Given the description of an element on the screen output the (x, y) to click on. 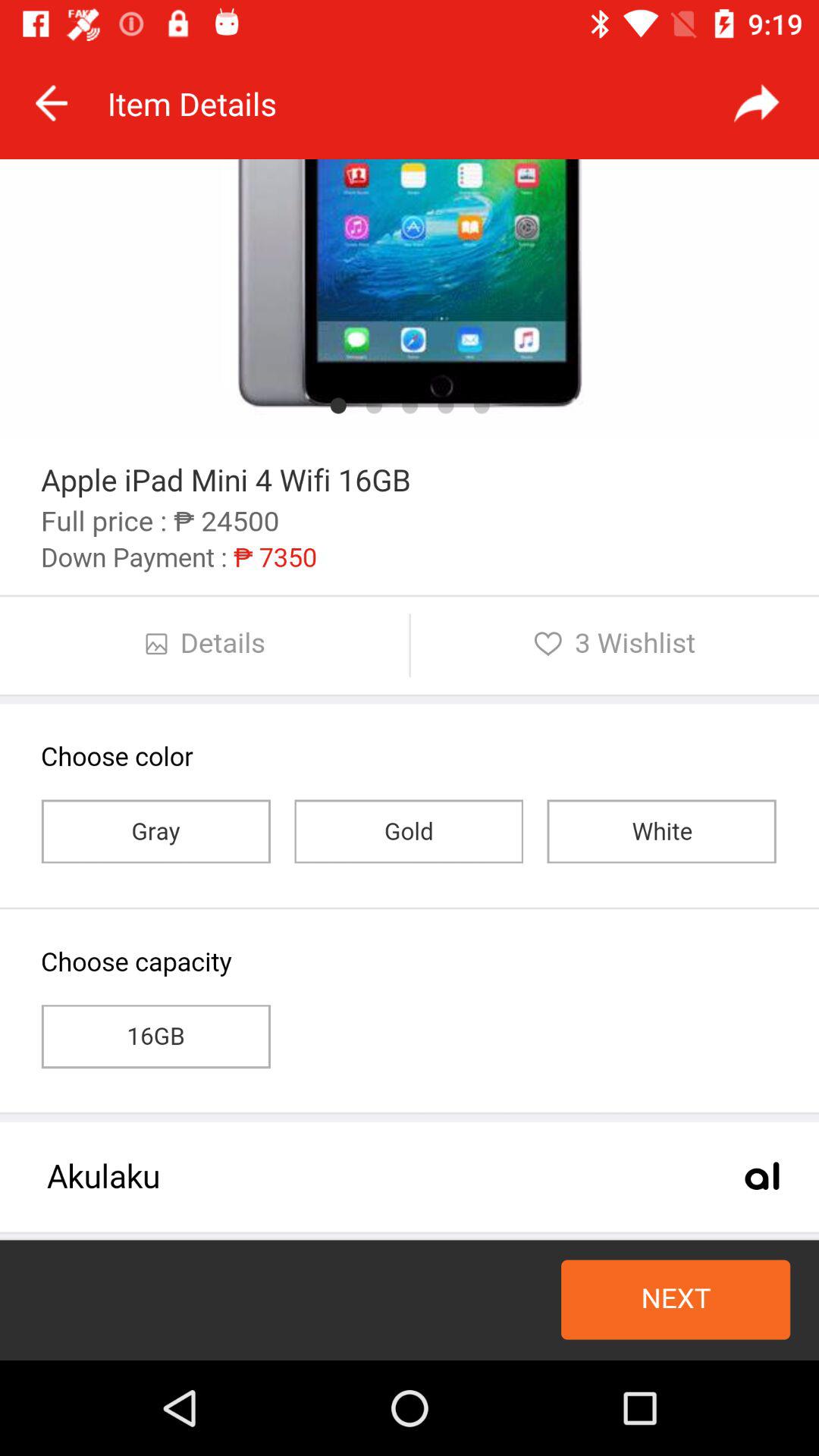
go to the next bage (756, 103)
